Given the description of an element on the screen output the (x, y) to click on. 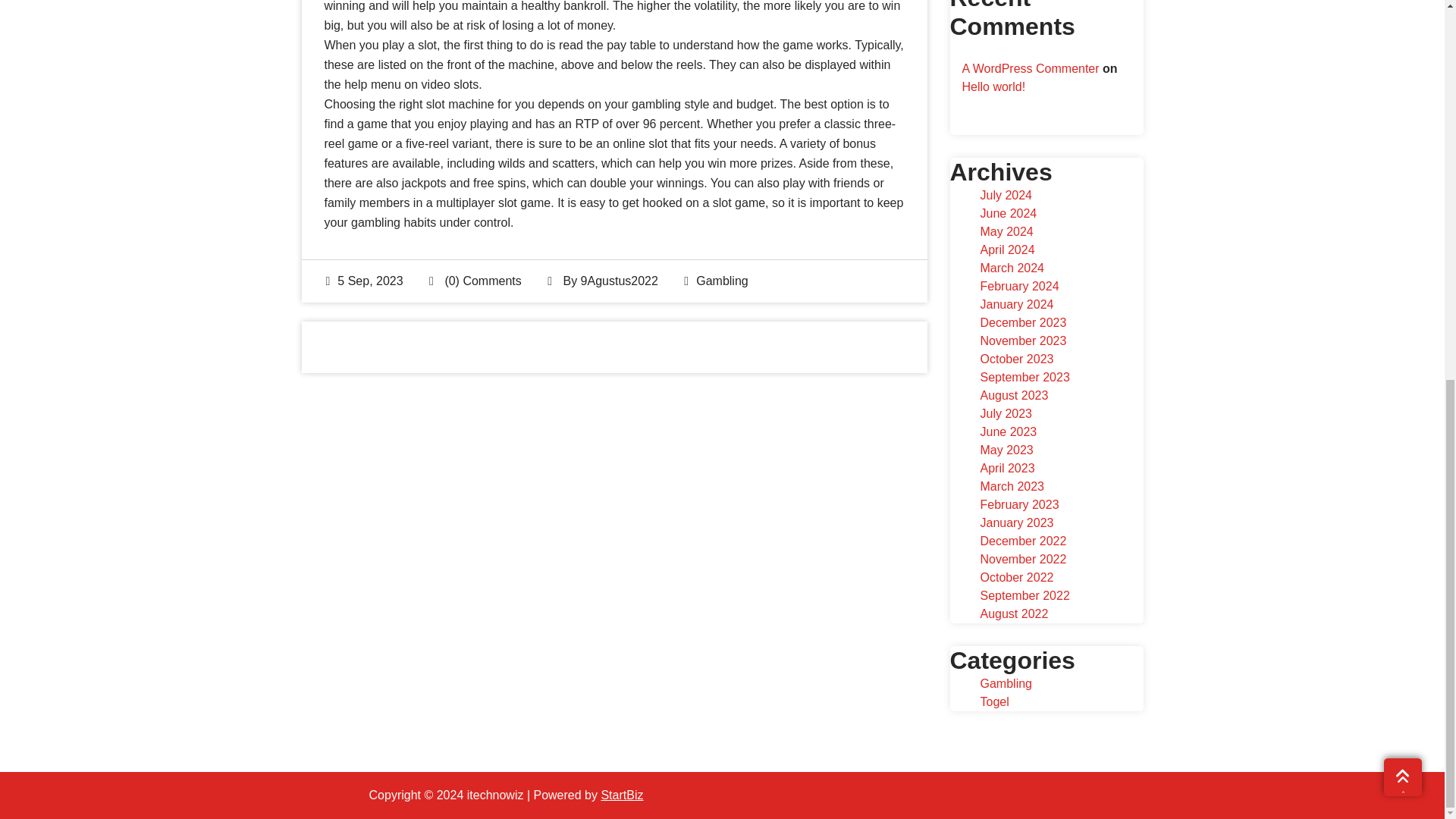
February 2023 (1018, 504)
November 2023 (1022, 340)
Hello world! (992, 86)
June 2024 (1007, 213)
July 2023 (1005, 413)
April 2023 (1006, 468)
5 Sep, 2023 (364, 280)
July 2024 (1005, 195)
April 2024 (1006, 249)
March 2024 (1011, 267)
February 2024 (1018, 286)
May 2024 (1005, 231)
August 2023 (1013, 395)
September 2023 (1023, 377)
October 2023 (1015, 358)
